Given the description of an element on the screen output the (x, y) to click on. 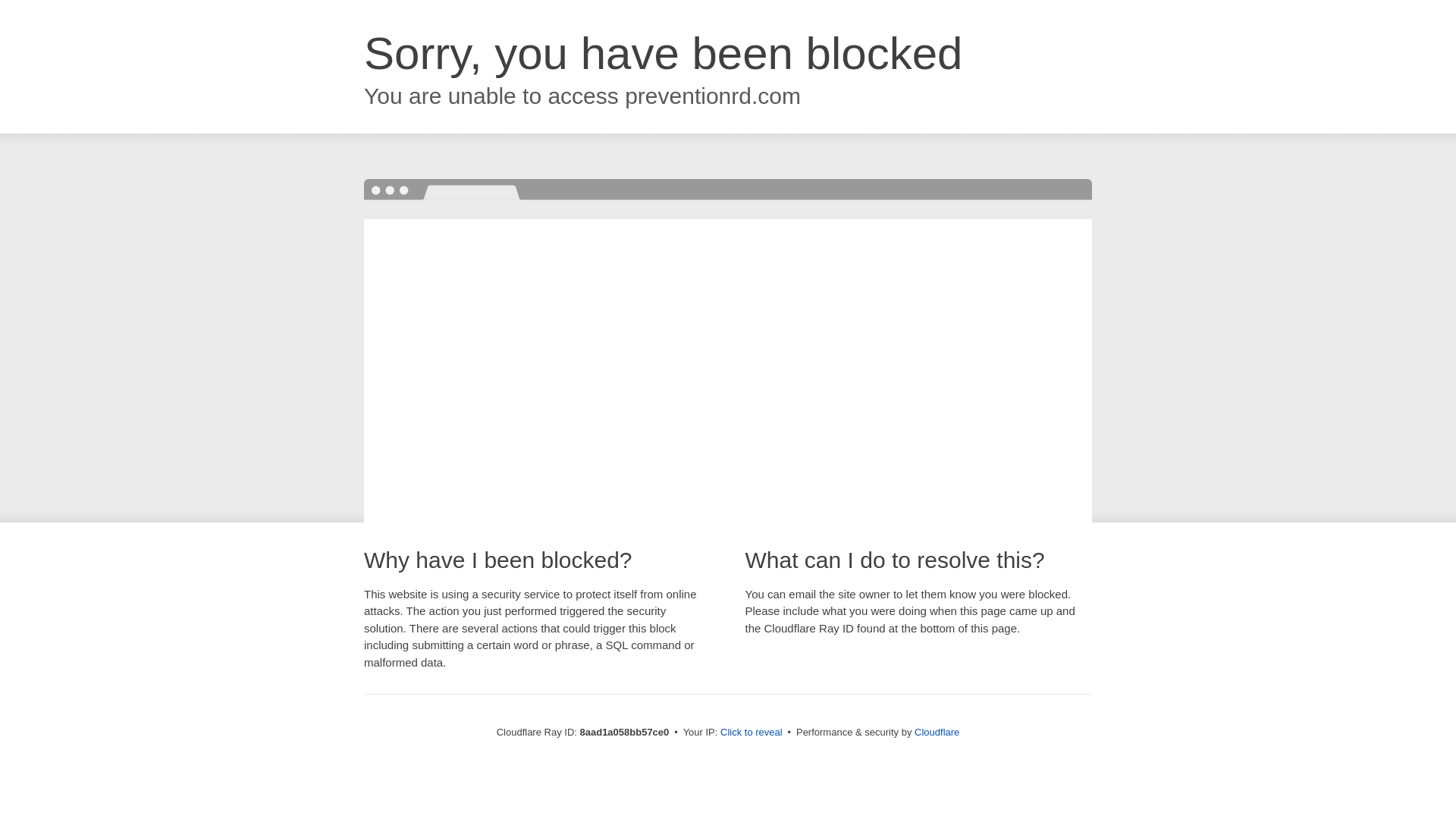
Click to reveal (751, 732)
Cloudflare (936, 731)
